Given the description of an element on the screen output the (x, y) to click on. 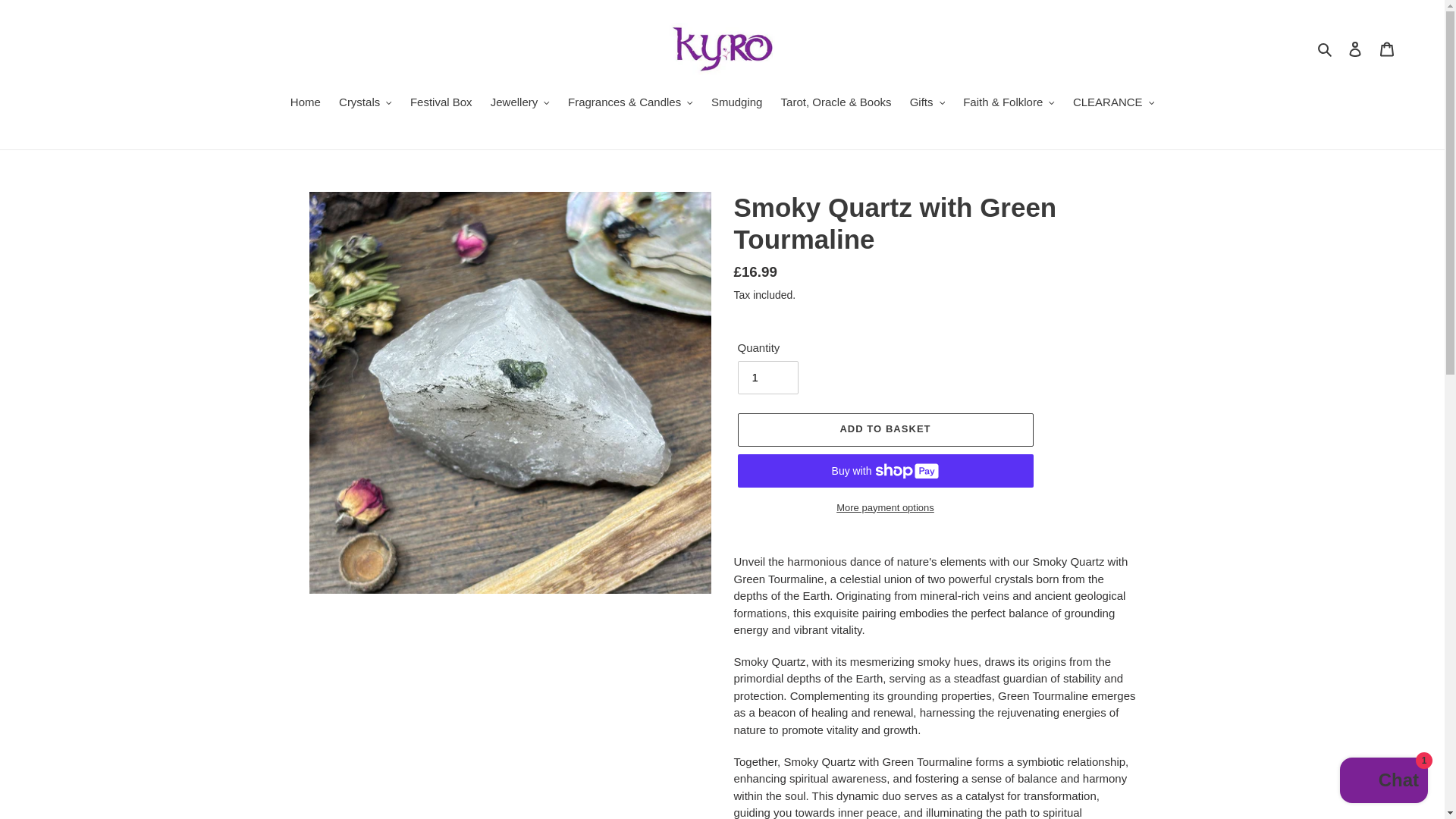
Log in (1355, 48)
Shopify online store chat (1383, 781)
Basket (1387, 48)
Search (1326, 48)
1 (766, 377)
